Given the description of an element on the screen output the (x, y) to click on. 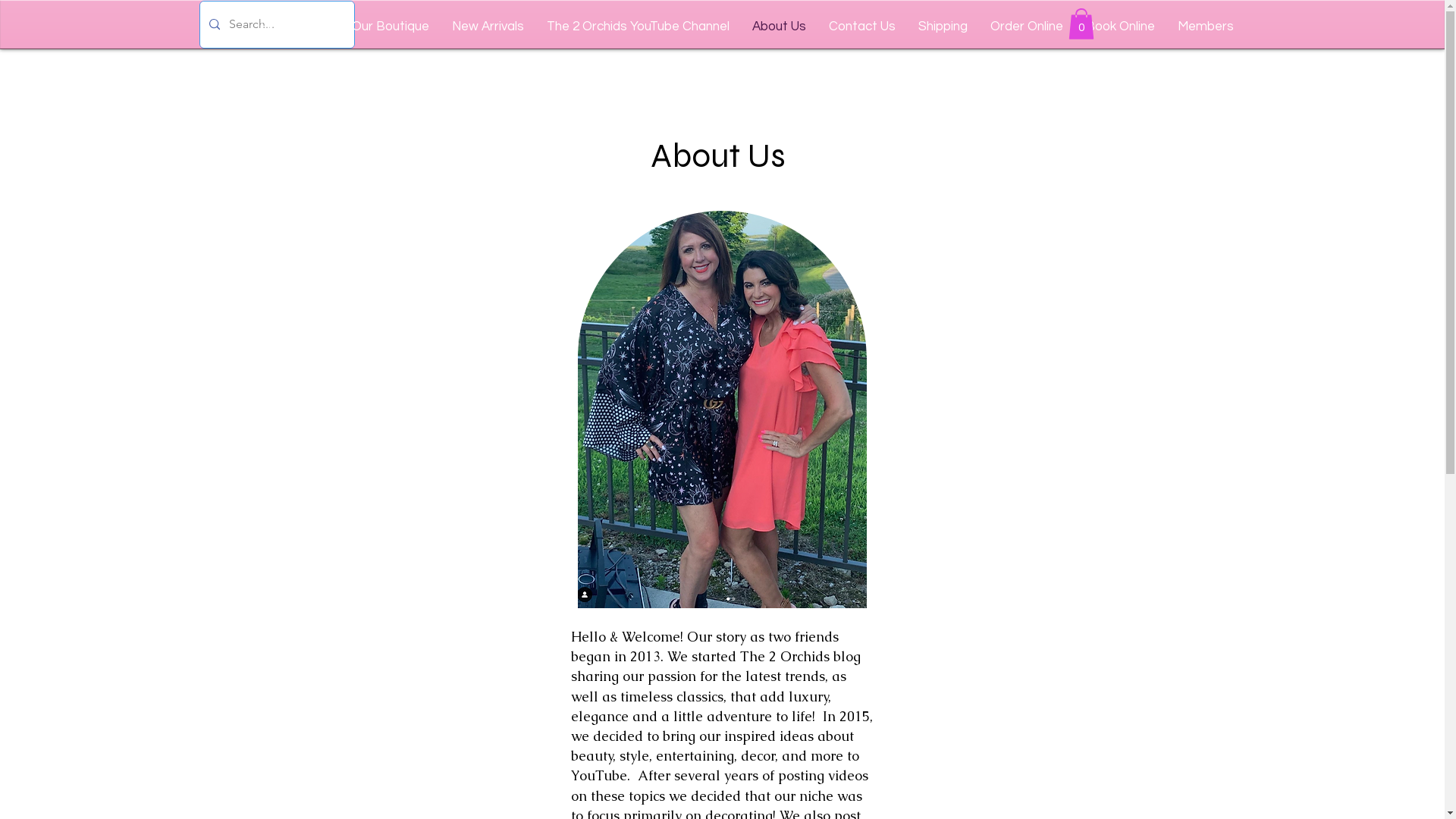
Book Online Element type: text (1120, 26)
Contact Us Element type: text (861, 26)
About Us Element type: text (778, 26)
Home Element type: text (277, 26)
The 2 Orchids YouTube Channel Element type: text (637, 26)
Members Element type: text (1205, 26)
Shipping Element type: text (942, 26)
Order Online Element type: text (1026, 26)
Shop Our Boutique Element type: text (373, 26)
0 Element type: text (1080, 23)
New Arrivals Element type: text (487, 26)
